Given the description of an element on the screen output the (x, y) to click on. 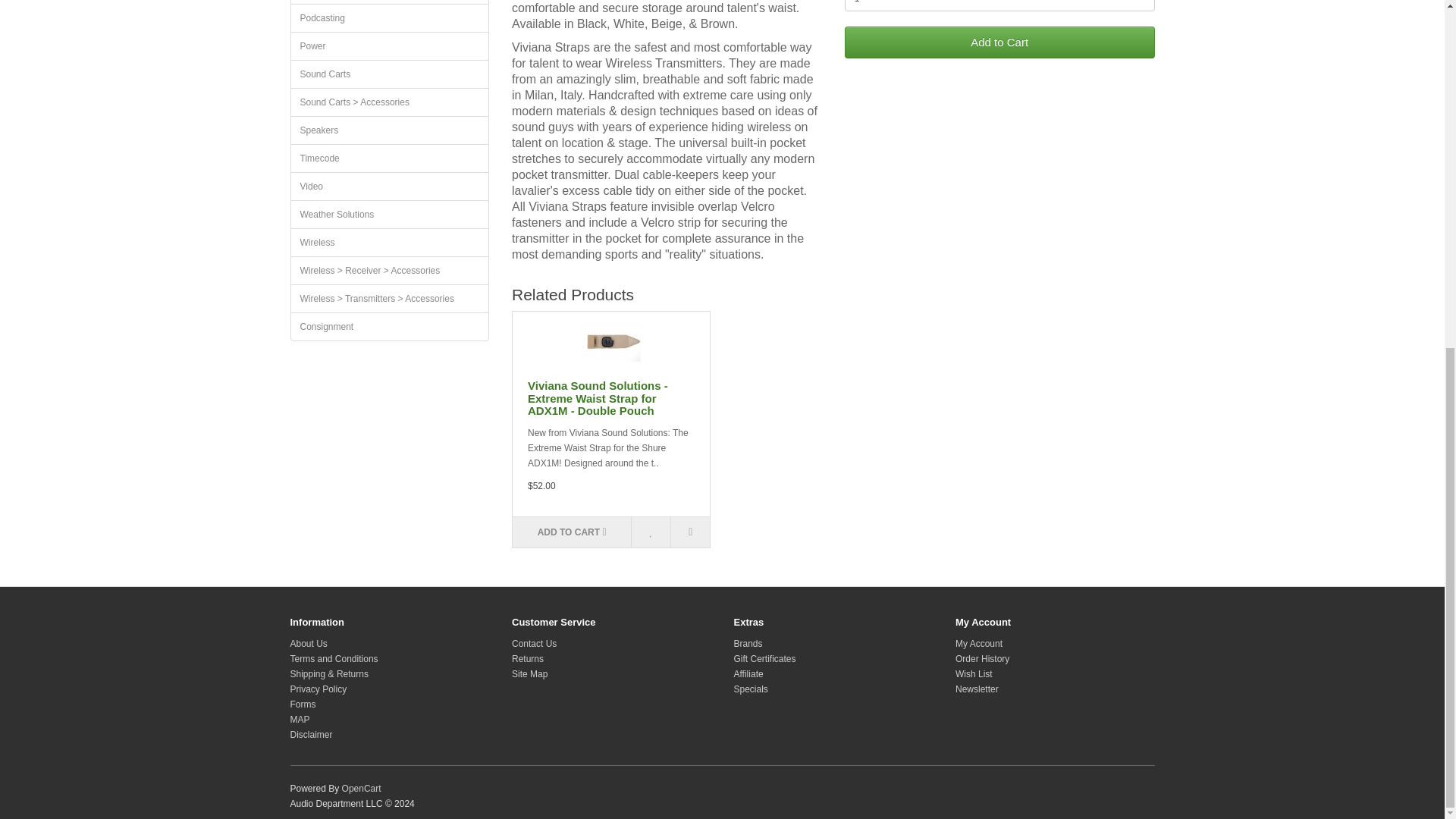
1 (999, 5)
